Given the description of an element on the screen output the (x, y) to click on. 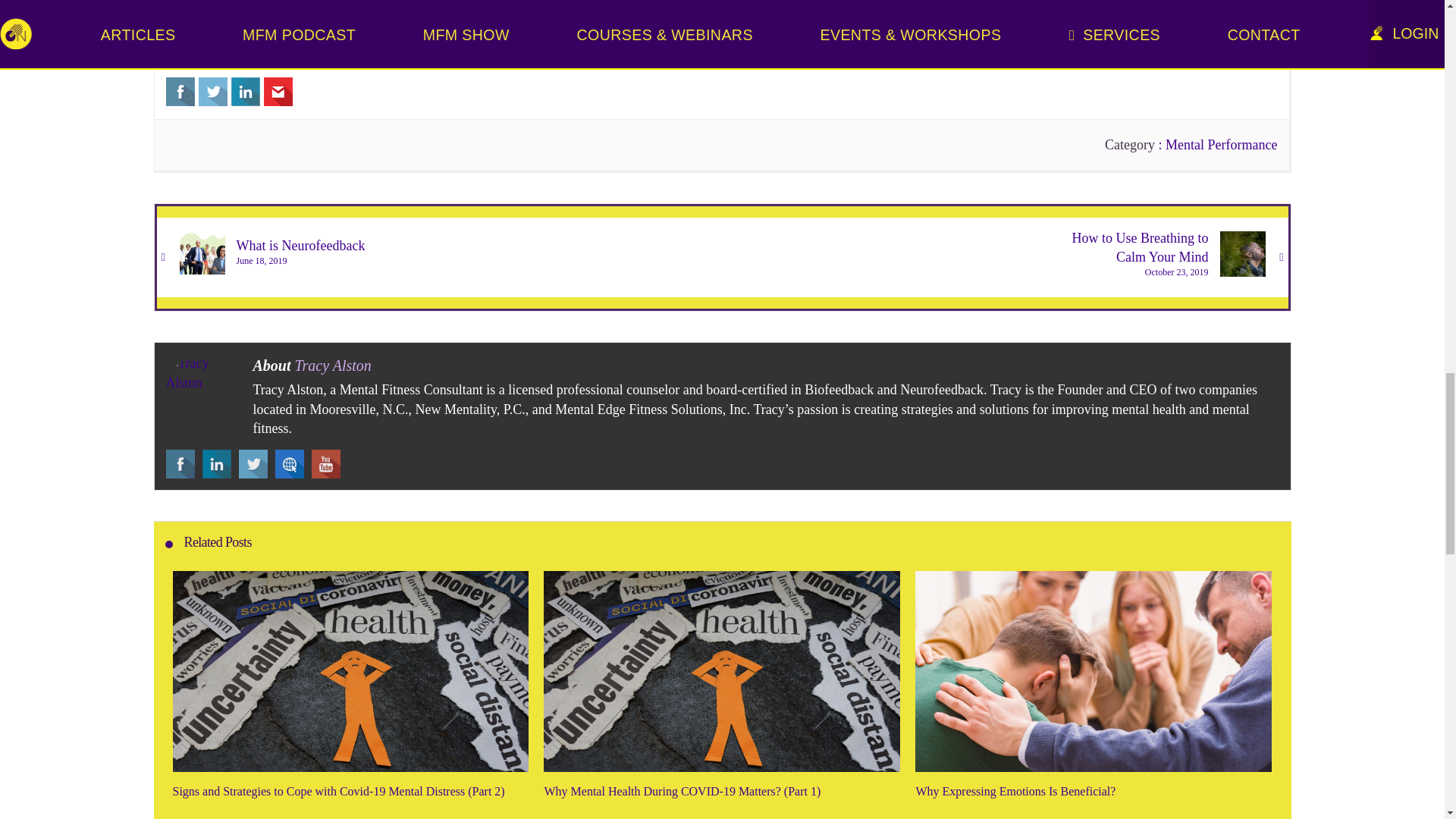
Tracy Alston (203, 391)
